Given the description of an element on the screen output the (x, y) to click on. 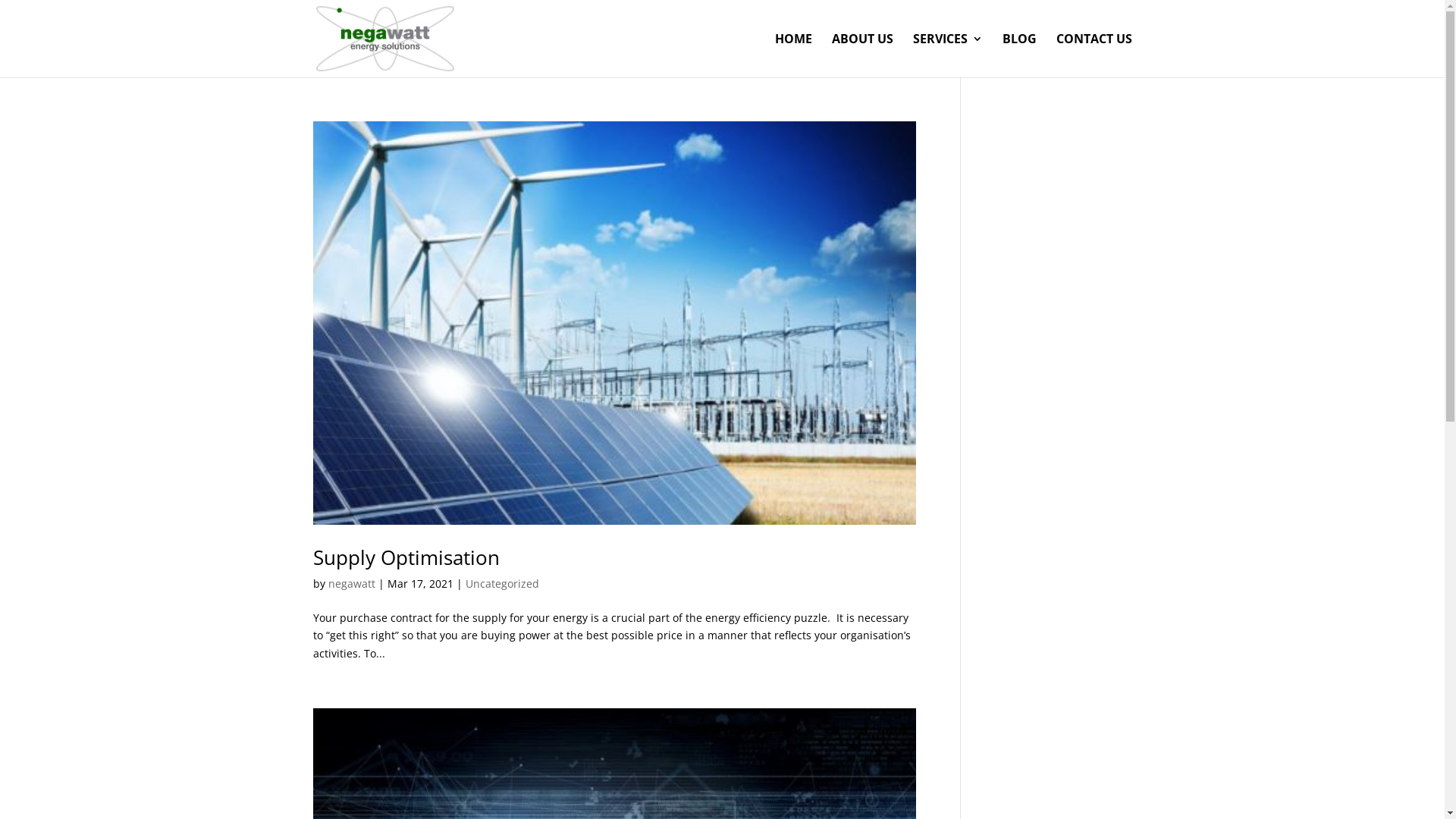
BLOG Element type: text (1019, 55)
negawatt Element type: text (350, 583)
Uncategorized Element type: text (502, 583)
SERVICES Element type: text (947, 55)
Supply Optimisation Element type: text (405, 557)
ABOUT US Element type: text (861, 55)
HOME Element type: text (793, 55)
CONTACT US Element type: text (1093, 55)
